Given the description of an element on the screen output the (x, y) to click on. 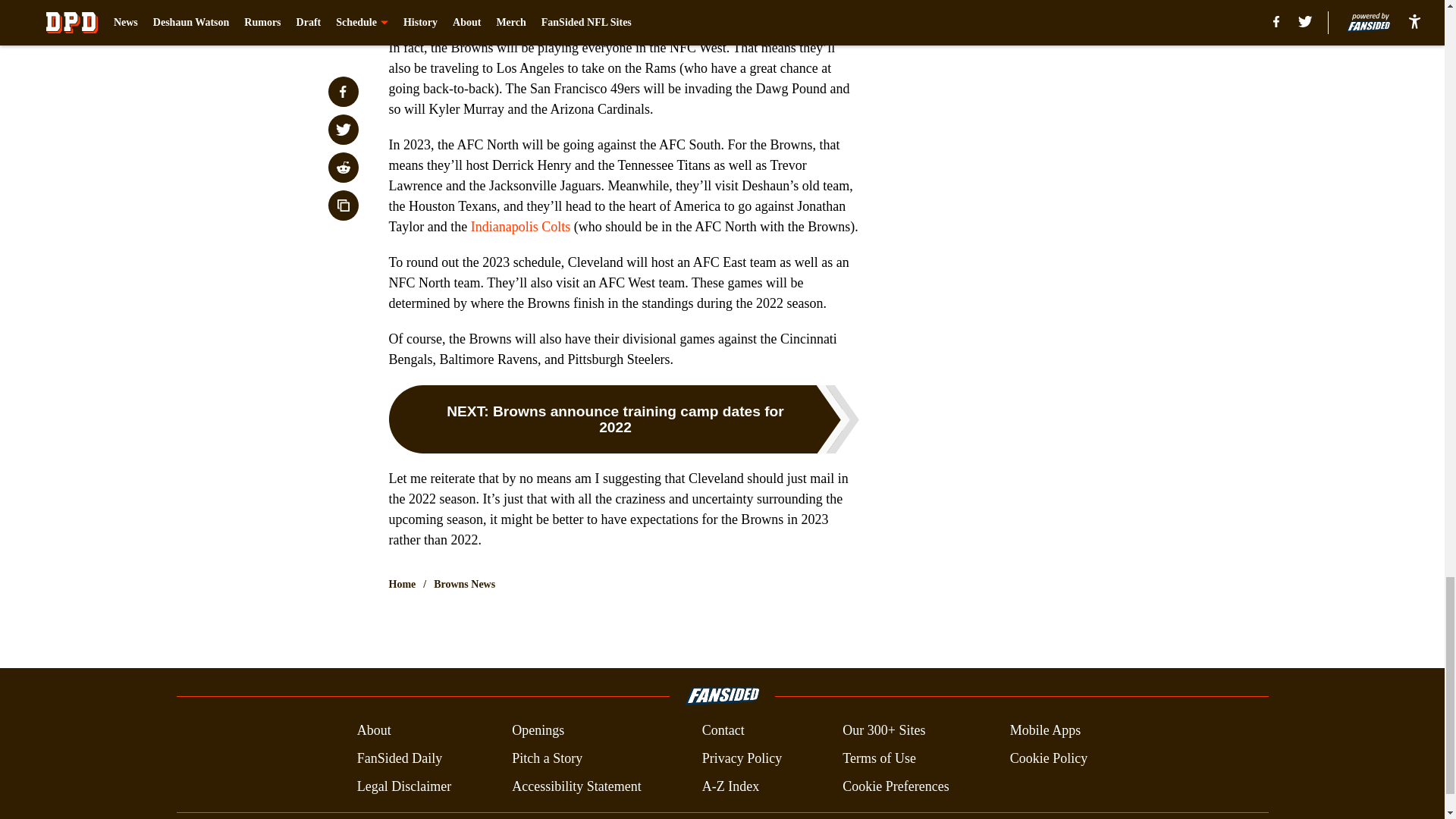
About (373, 730)
Contact (722, 730)
Home (401, 584)
Privacy Policy (742, 758)
FanSided Daily (399, 758)
Indianapolis Colts (520, 226)
NEXT: Browns announce training camp dates for 2022 (623, 418)
Openings (538, 730)
Mobile Apps (1045, 730)
